Given the description of an element on the screen output the (x, y) to click on. 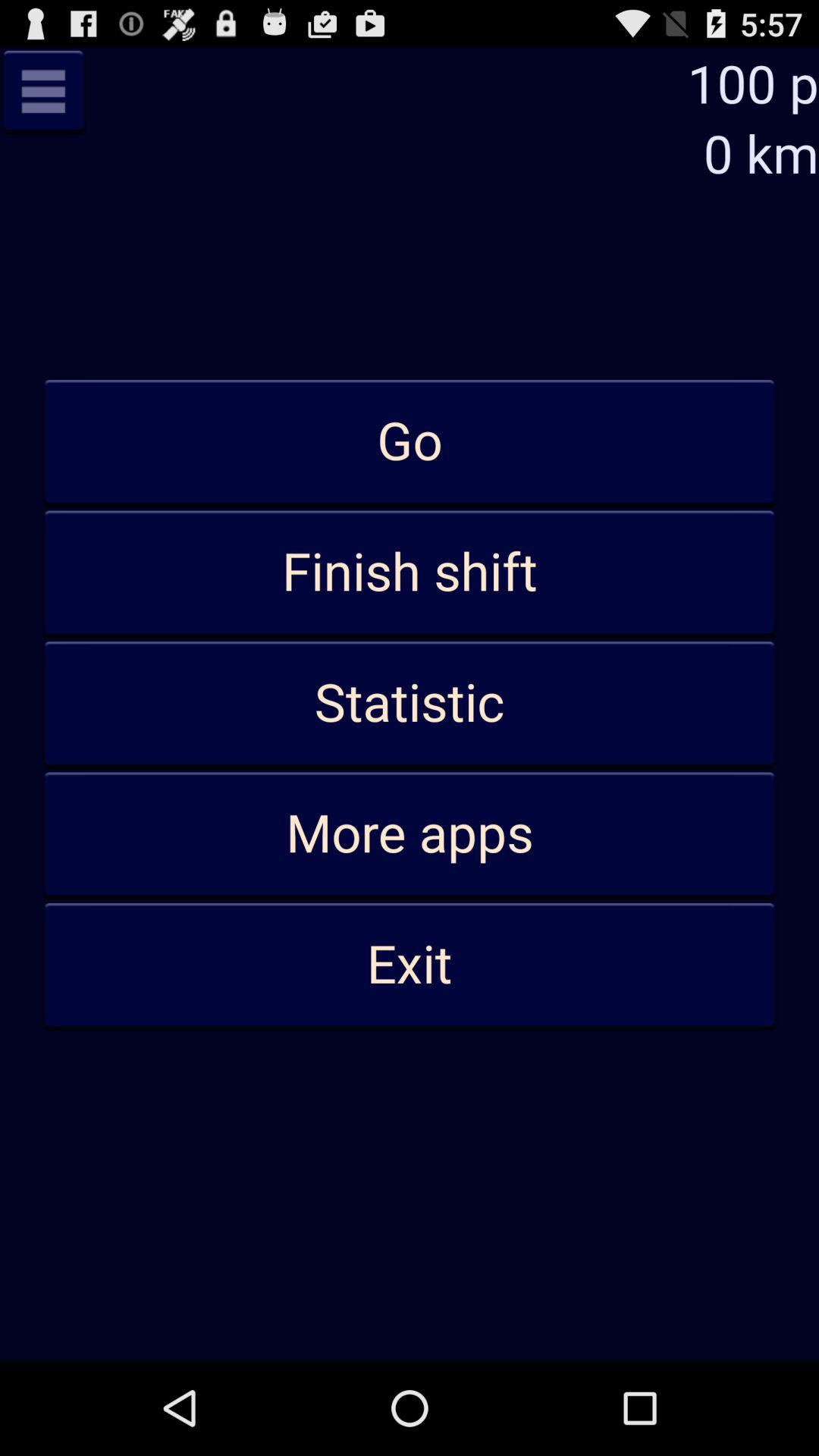
turn off the icon below finish shift app (409, 703)
